Given the description of an element on the screen output the (x, y) to click on. 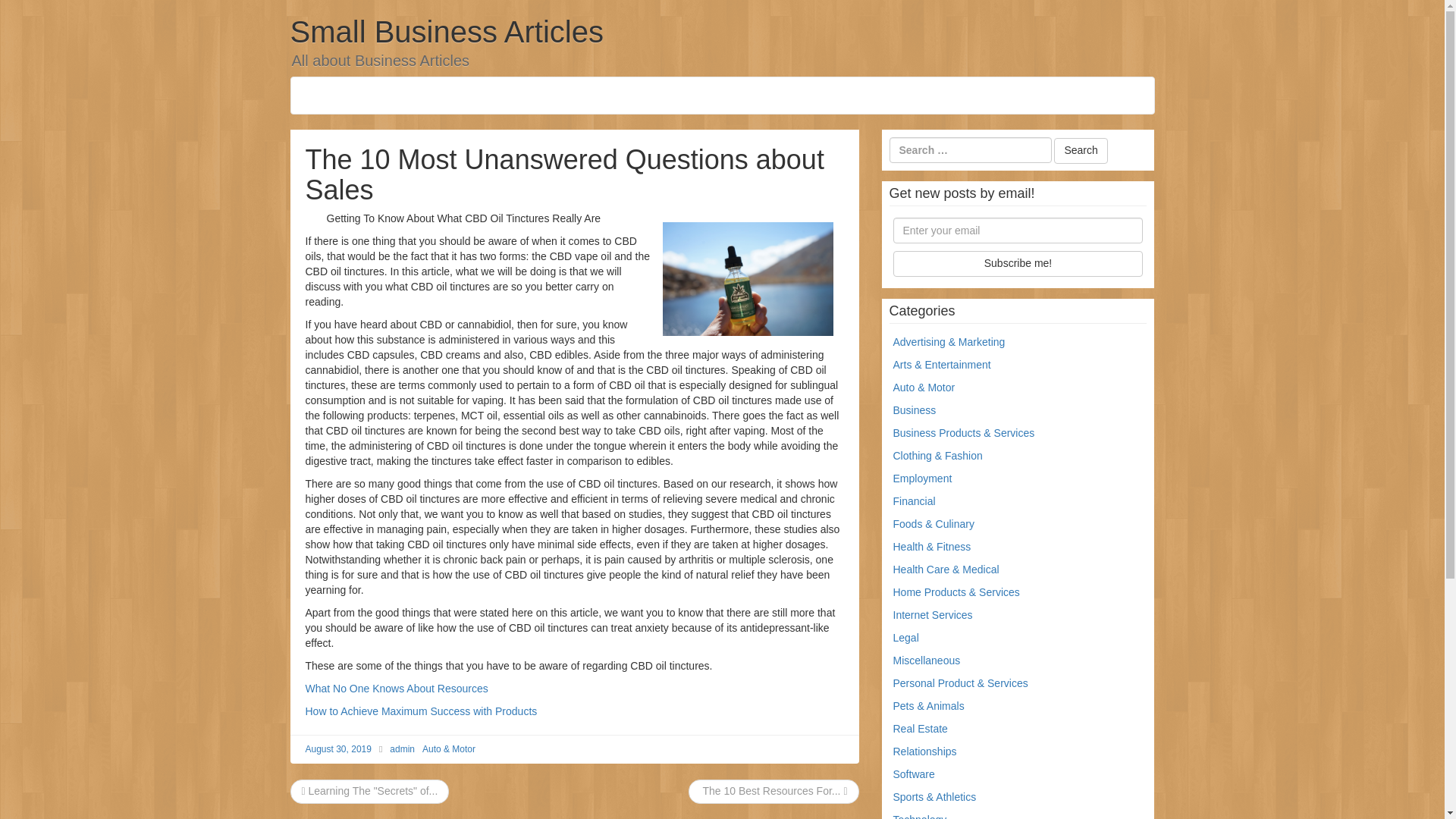
admin (402, 748)
Search for: (969, 149)
Business (914, 410)
Financial (914, 500)
Miscellaneous (926, 660)
Subscribe me! (1017, 263)
Real Estate (920, 728)
Search (1080, 150)
Internet Services (932, 614)
Search (1080, 150)
